Given the description of an element on the screen output the (x, y) to click on. 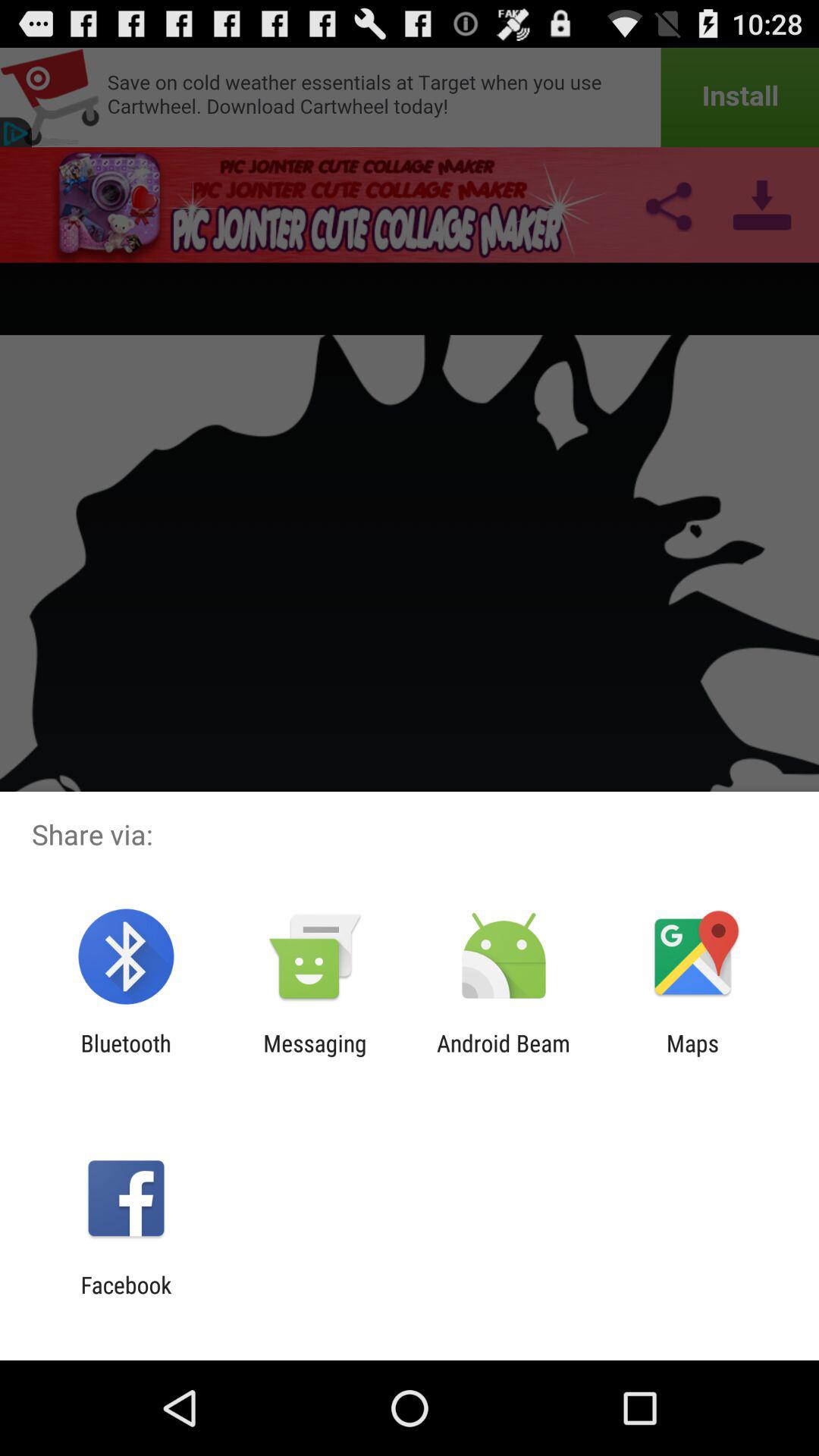
click the item to the left of android beam item (314, 1056)
